Given the description of an element on the screen output the (x, y) to click on. 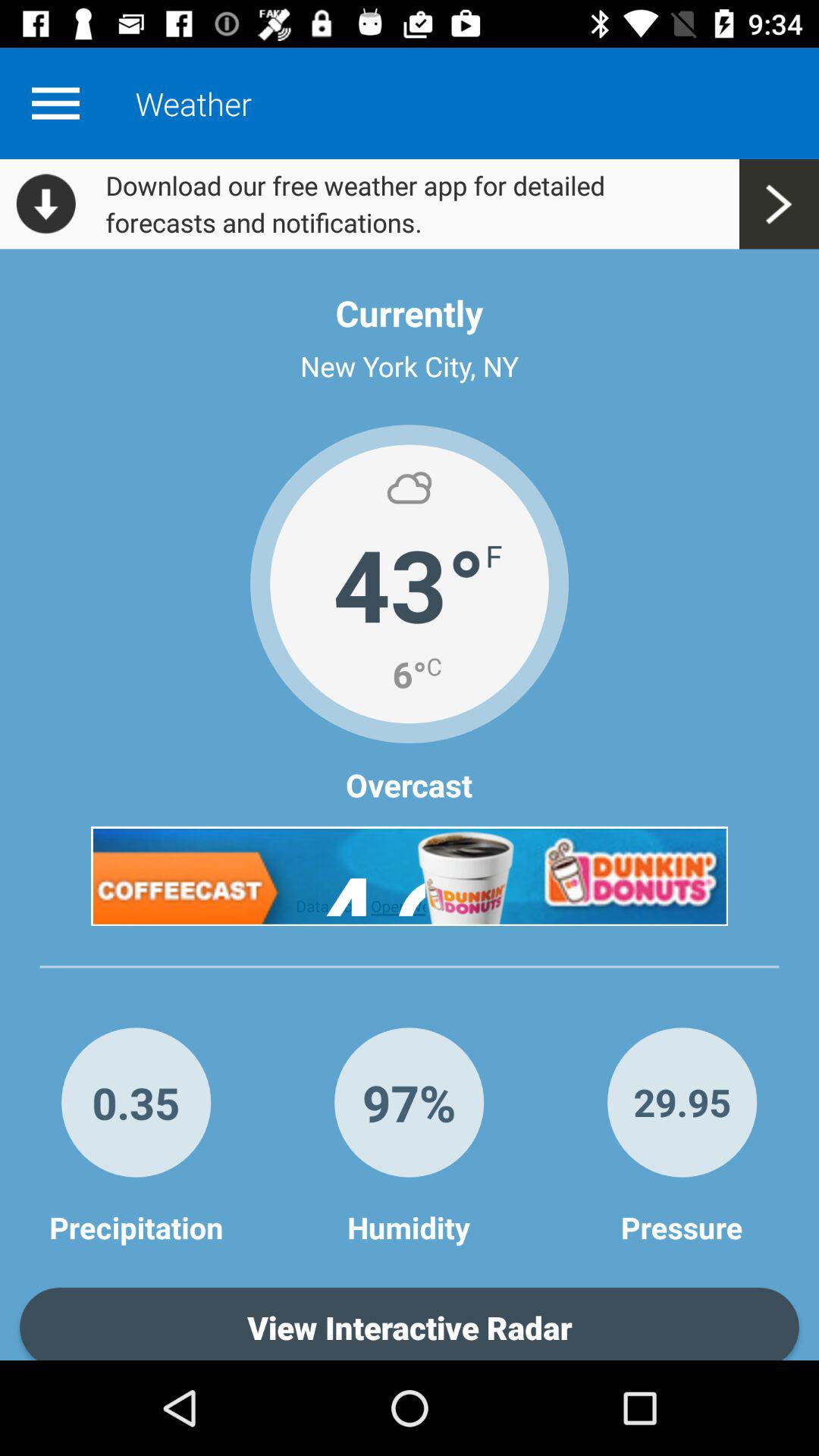
click on the advertisement (409, 875)
